Given the description of an element on the screen output the (x, y) to click on. 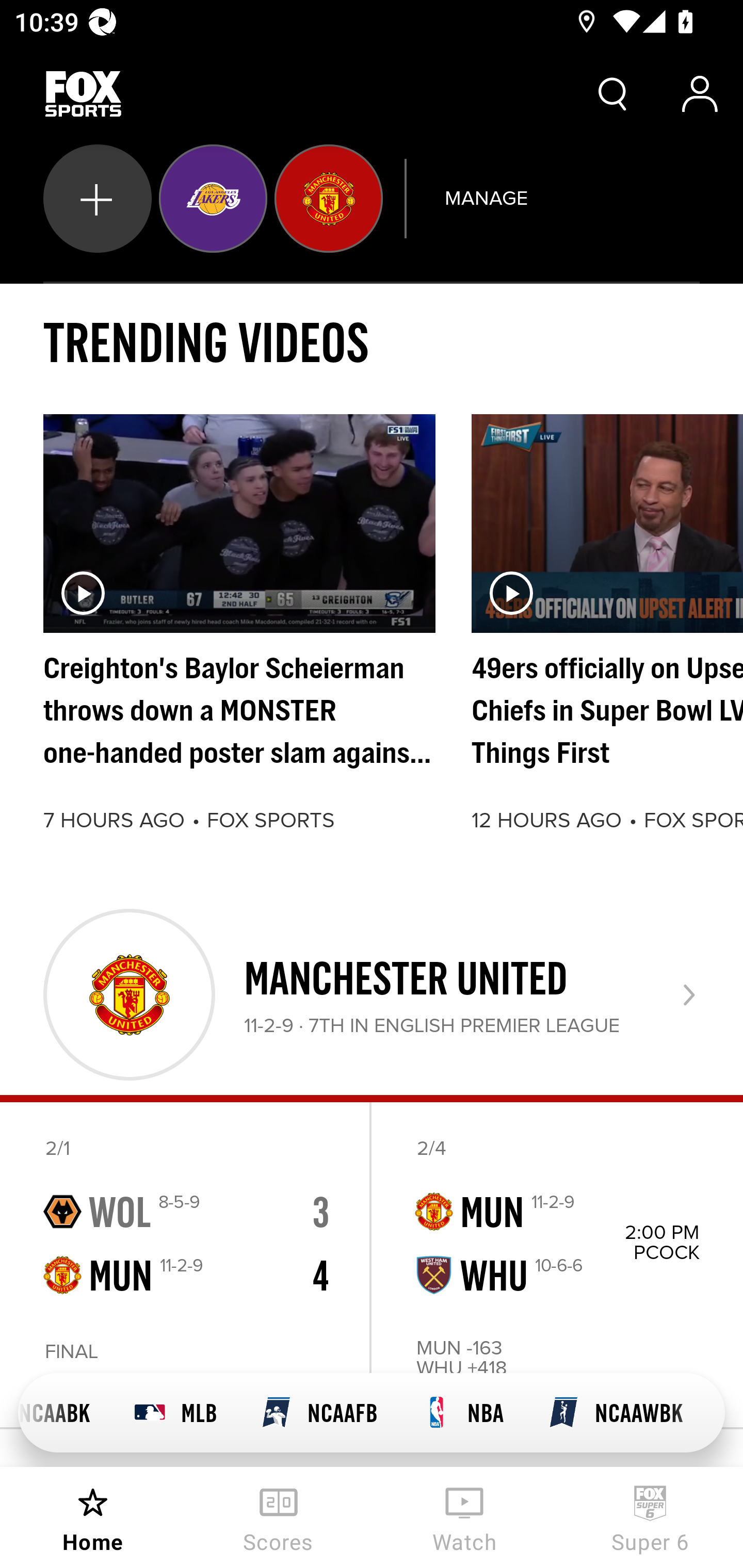
Search (612, 93)
Account (699, 93)
MANAGE (485, 198)
2/1 WOL 8-5-9 3 MUN 11-2-9 4 FINAL (185, 1264)
NCAABK (64, 1412)
MLB (175, 1412)
NCAAFB (318, 1412)
NBA (462, 1412)
NCAAWBK (615, 1412)
Scores (278, 1517)
Watch (464, 1517)
Super 6 (650, 1517)
